Given the description of an element on the screen output the (x, y) to click on. 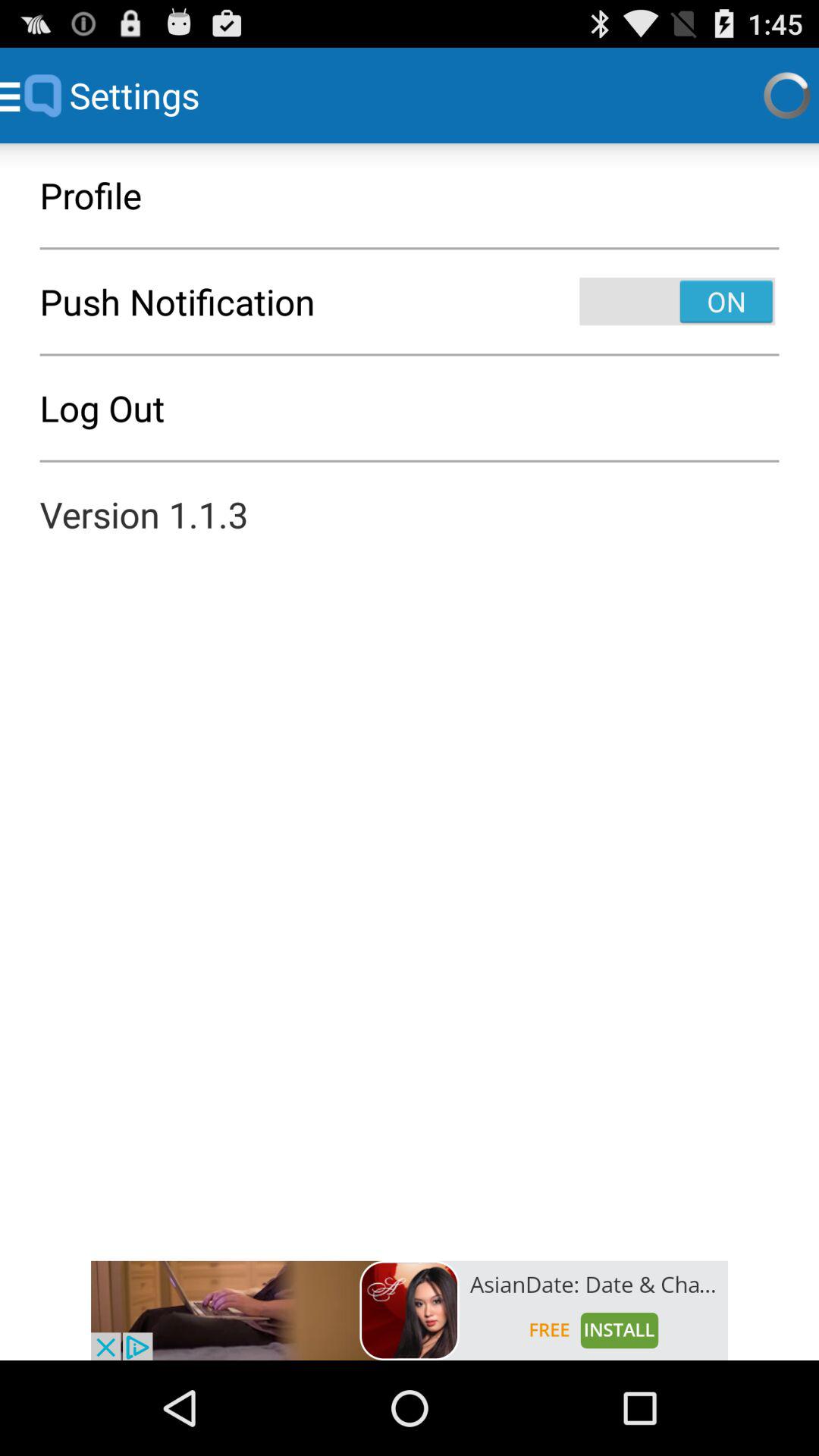
advertisement (409, 1310)
